Given the description of an element on the screen output the (x, y) to click on. 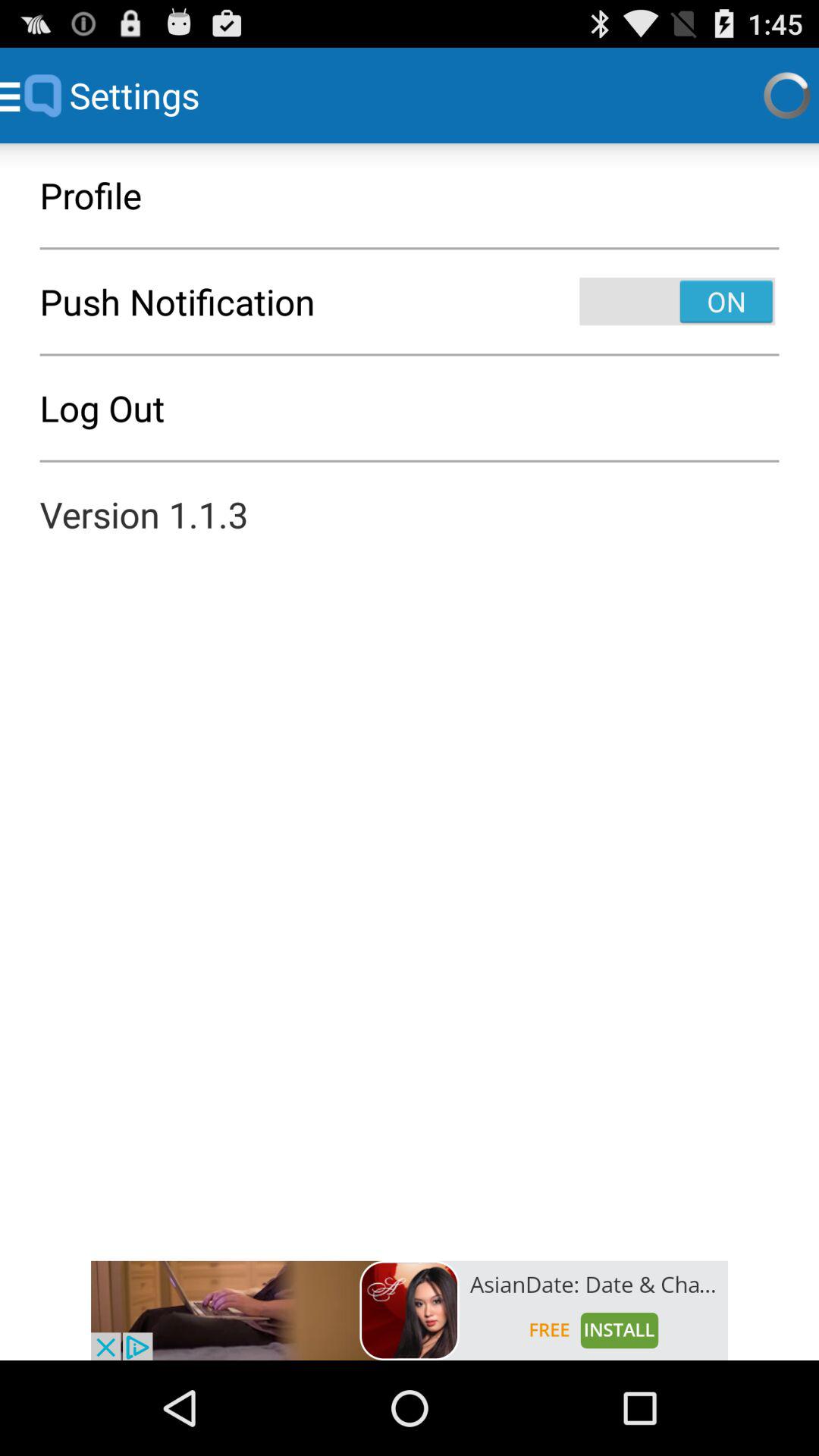
advertisement (409, 1310)
